Given the description of an element on the screen output the (x, y) to click on. 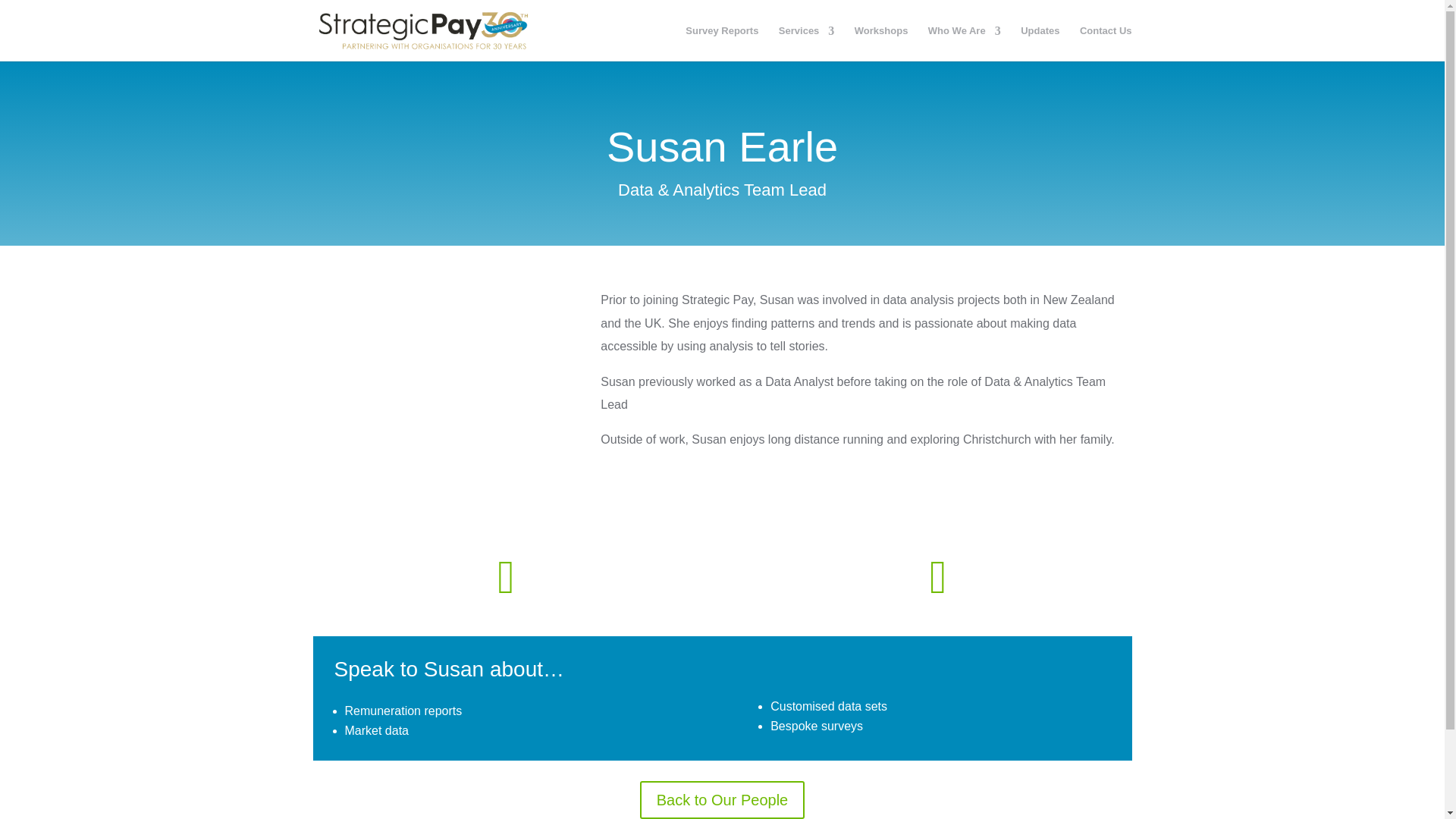
Workshops (881, 43)
wpforms-submit (655, 549)
Updates (1039, 43)
Back to Our People (722, 800)
Survey Reports (721, 43)
Services (806, 43)
Contact Us (1106, 43)
Who We Are (964, 43)
